Given the description of an element on the screen output the (x, y) to click on. 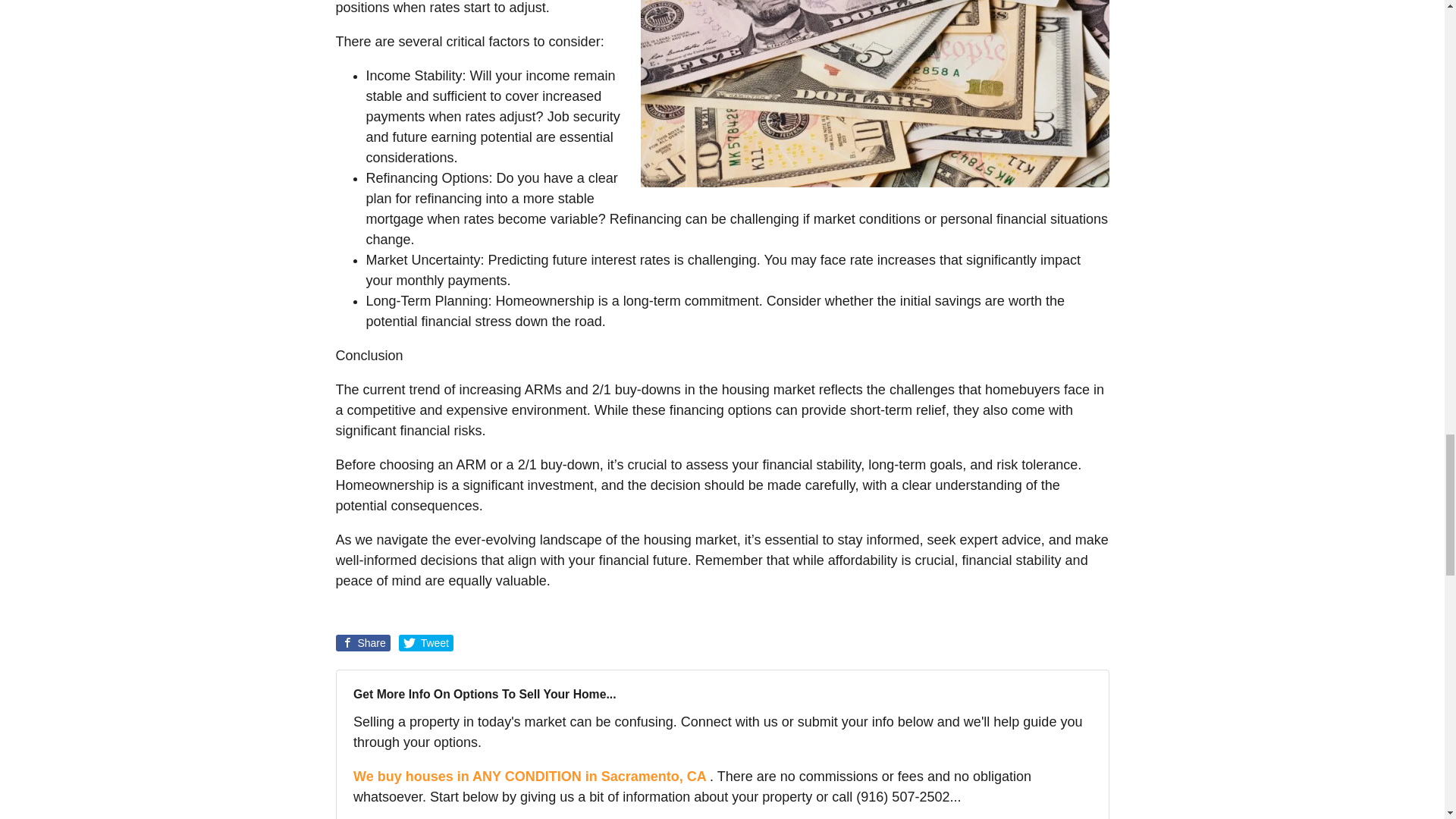
Share on Twitter (425, 642)
Share on Facebook (362, 642)
Share (362, 642)
Tweet (425, 642)
